Given the description of an element on the screen output the (x, y) to click on. 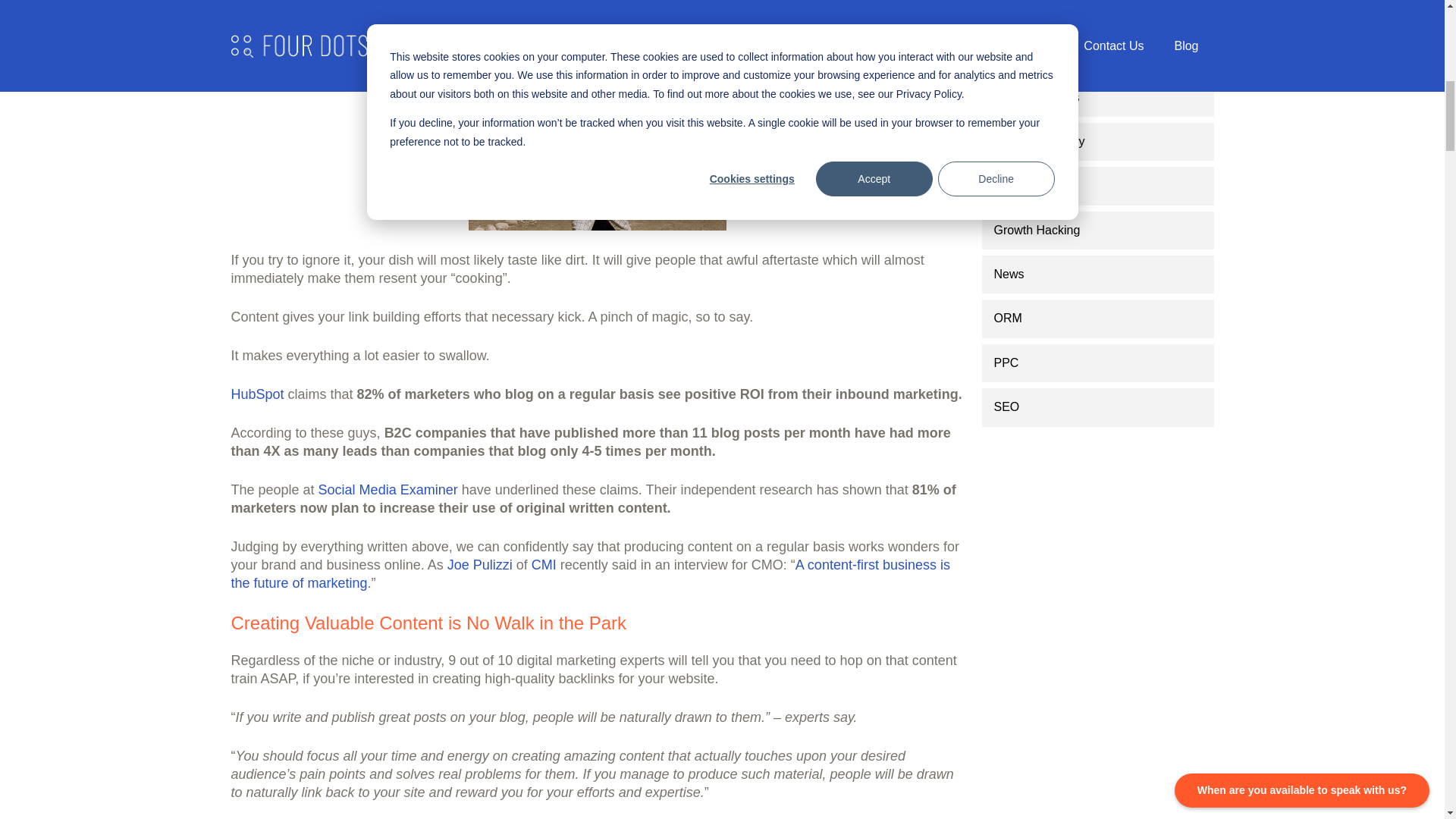
Creating Content that Generates Links Like Crazy 2 (597, 143)
